Given the description of an element on the screen output the (x, y) to click on. 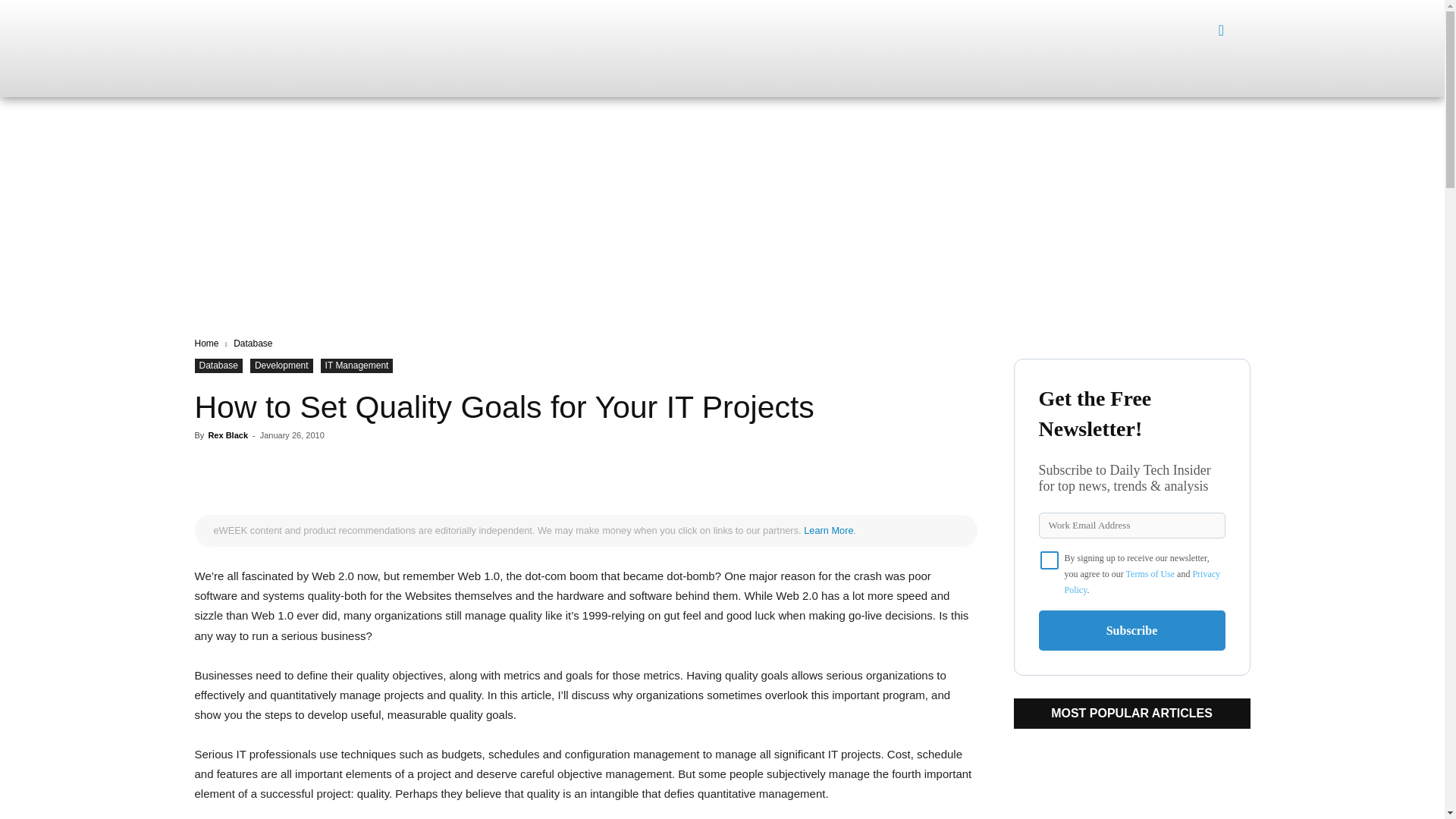
on (1049, 560)
